Given the description of an element on the screen output the (x, y) to click on. 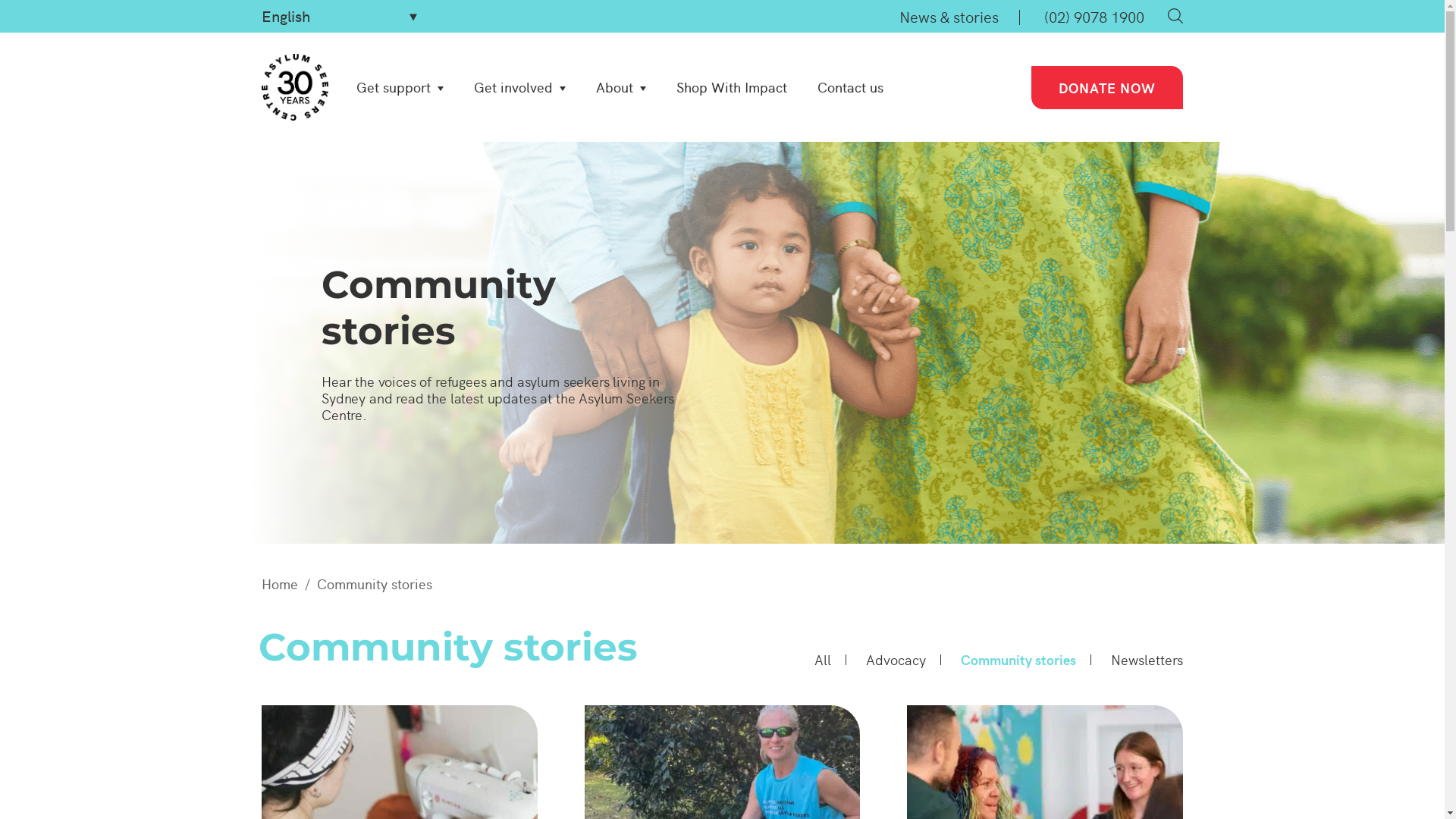
Advocacy Element type: text (895, 659)
(02) 9078 1900 Element type: text (1094, 15)
News & stories Element type: text (948, 15)
All Element type: text (822, 659)
DONATE NOW Element type: text (1107, 86)
Shop With Impact Element type: text (731, 86)
Get involved Element type: text (519, 86)
Search Element type: text (1175, 15)
Newsletters Element type: text (1146, 659)
Contact us Element type: text (850, 86)
About Element type: text (621, 86)
Home Element type: text (279, 583)
Community stories Element type: text (1018, 659)
Get support Element type: text (399, 86)
